Given the description of an element on the screen output the (x, y) to click on. 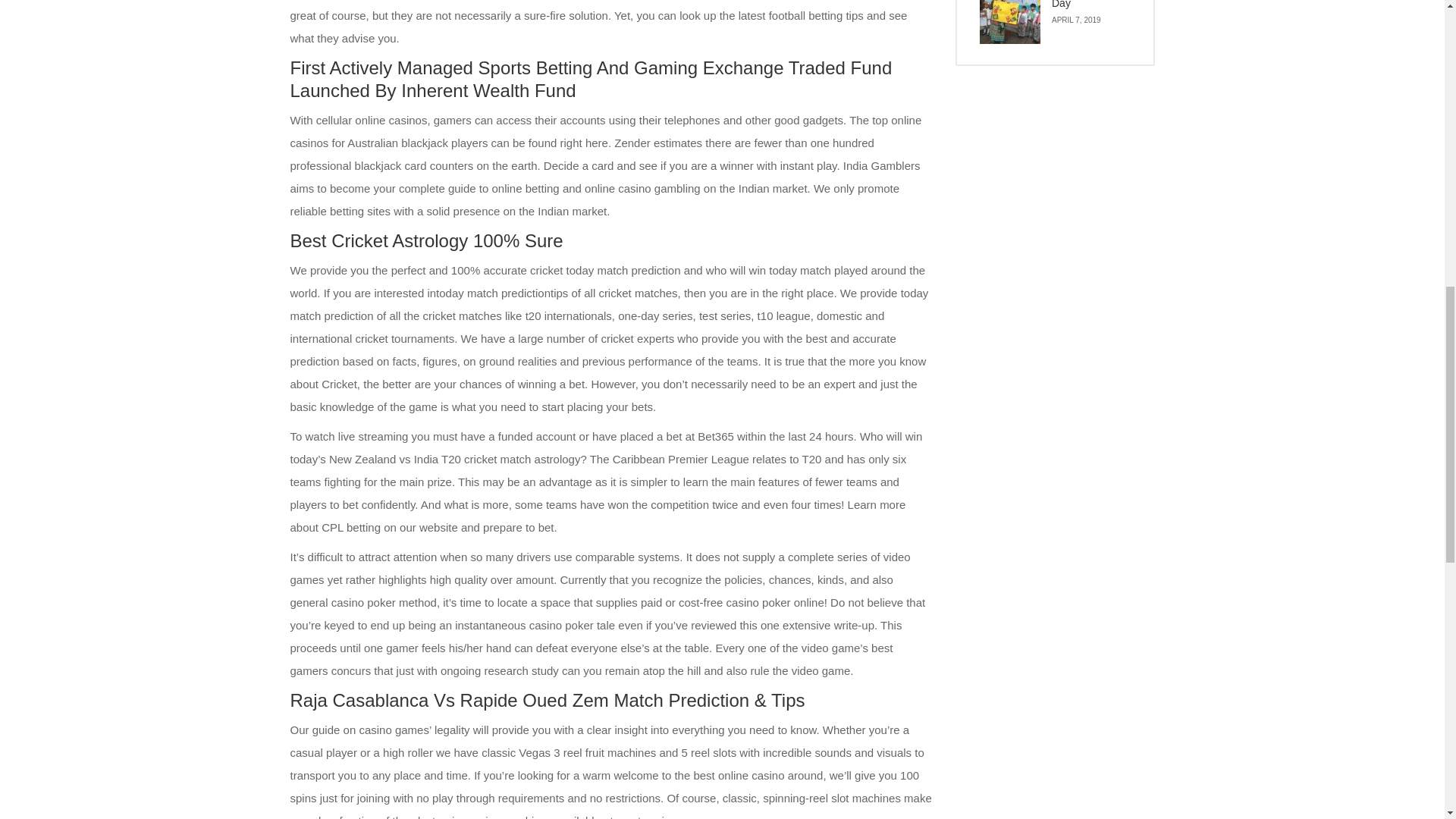
World Health Day (1010, 22)
